Given the description of an element on the screen output the (x, y) to click on. 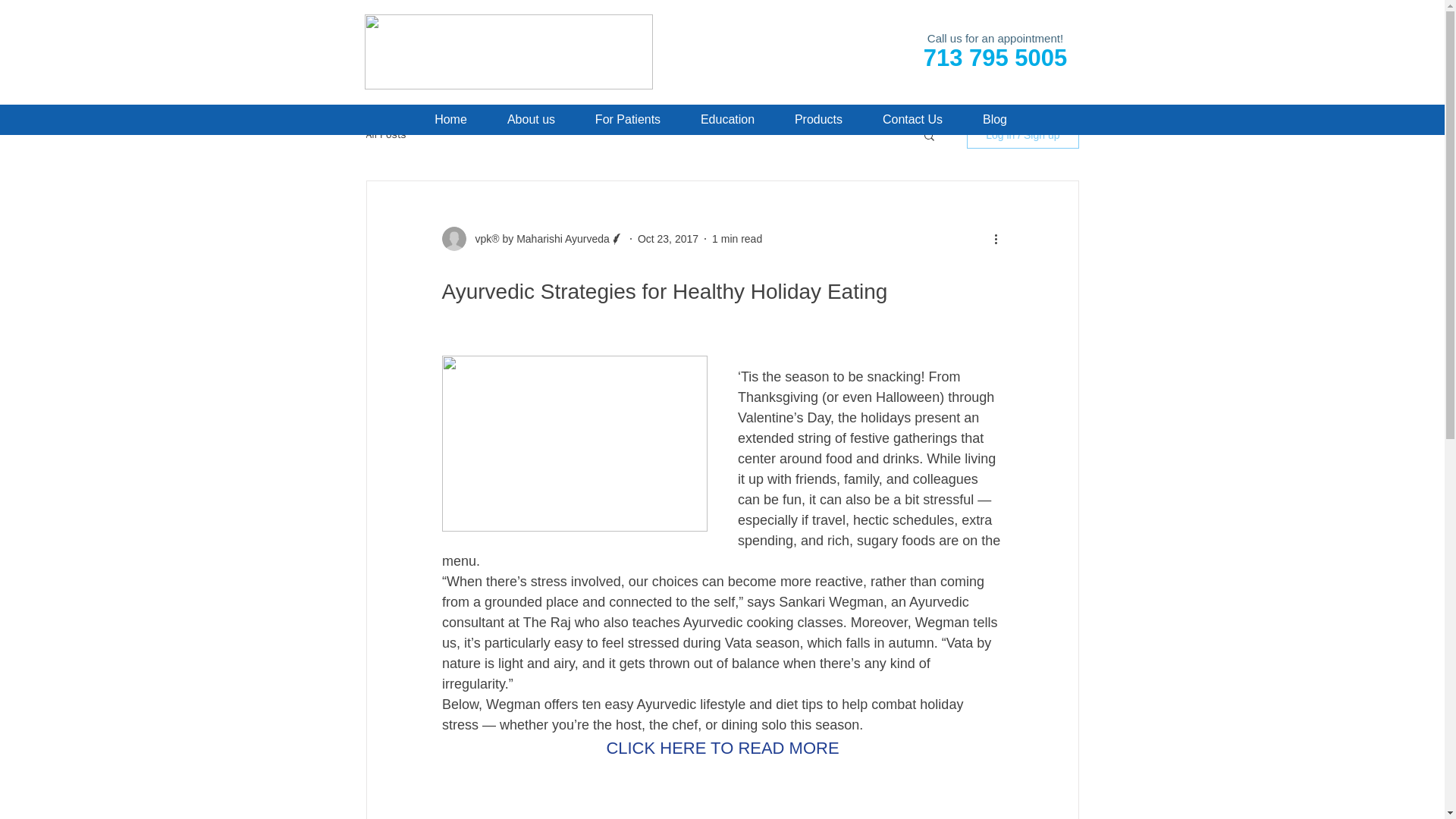
Contact Us (912, 119)
Blog (994, 119)
Home (449, 119)
CLICK HERE TO READ MORE (721, 747)
Call us for an appointment! (994, 38)
Oct 23, 2017 (667, 238)
1 min read (736, 238)
All Posts (385, 134)
713 795 5005 (995, 61)
